Given the description of an element on the screen output the (x, y) to click on. 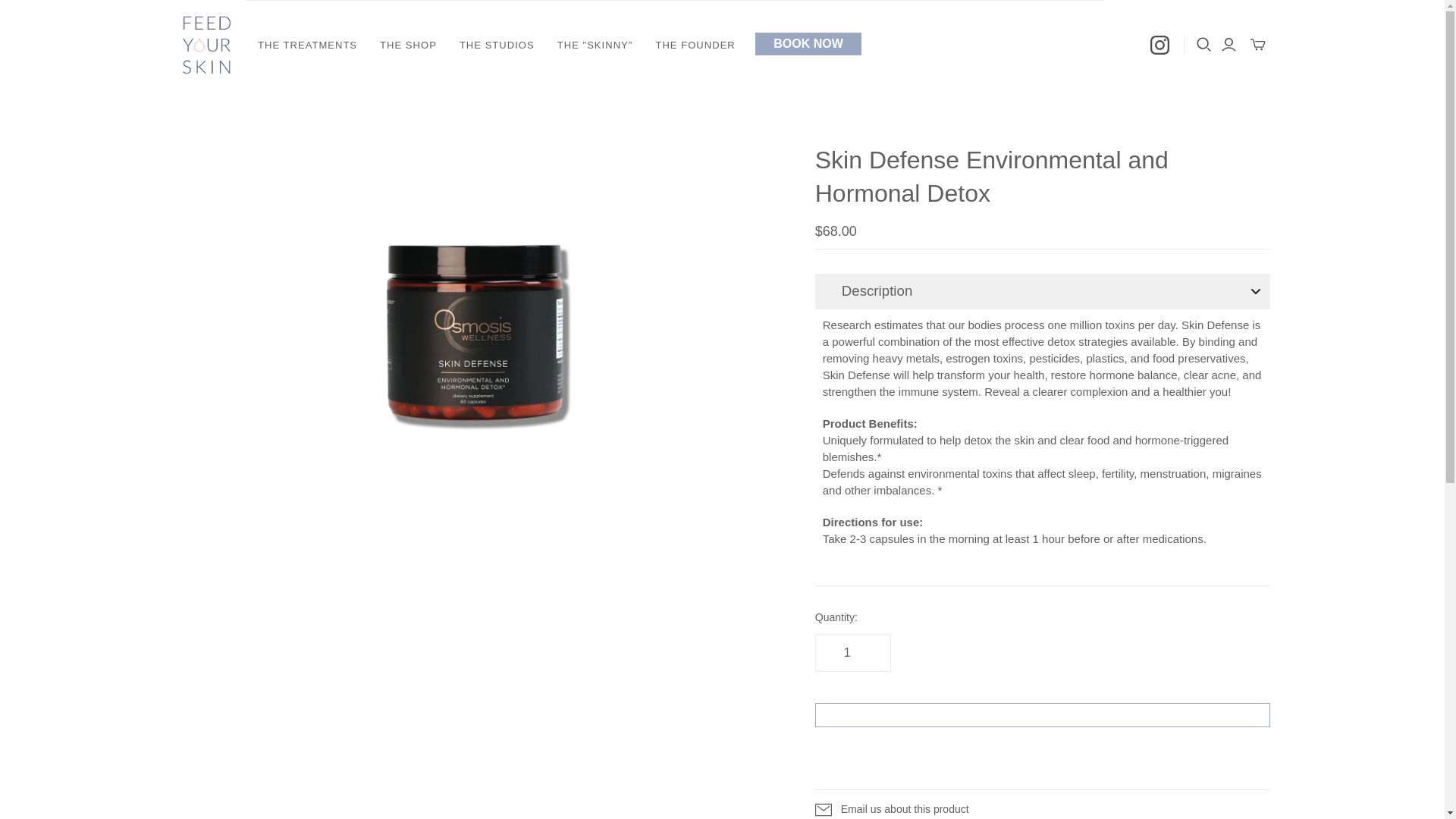
Email us about this product (1042, 804)
1 (853, 652)
THE STUDIOS (497, 45)
THE TREATMENTS (307, 45)
THE FOUNDER (694, 45)
THE "SKINNY" (595, 45)
THE SHOP (408, 45)
BOOK NOW (807, 43)
